Given the description of an element on the screen output the (x, y) to click on. 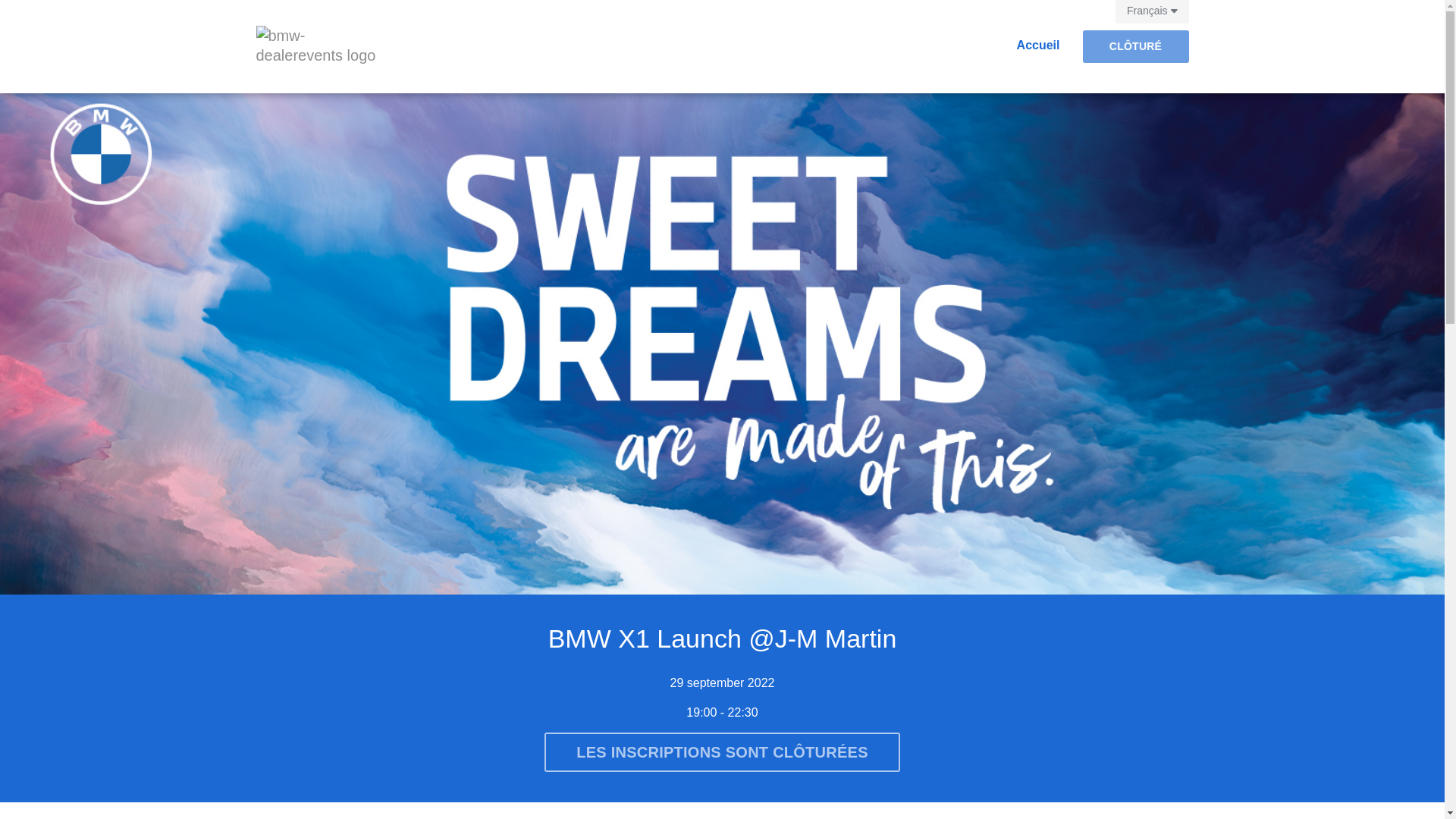
Accueil Element type: text (1038, 38)
bmw-dealerevents Element type: text (316, 45)
